Given the description of an element on the screen output the (x, y) to click on. 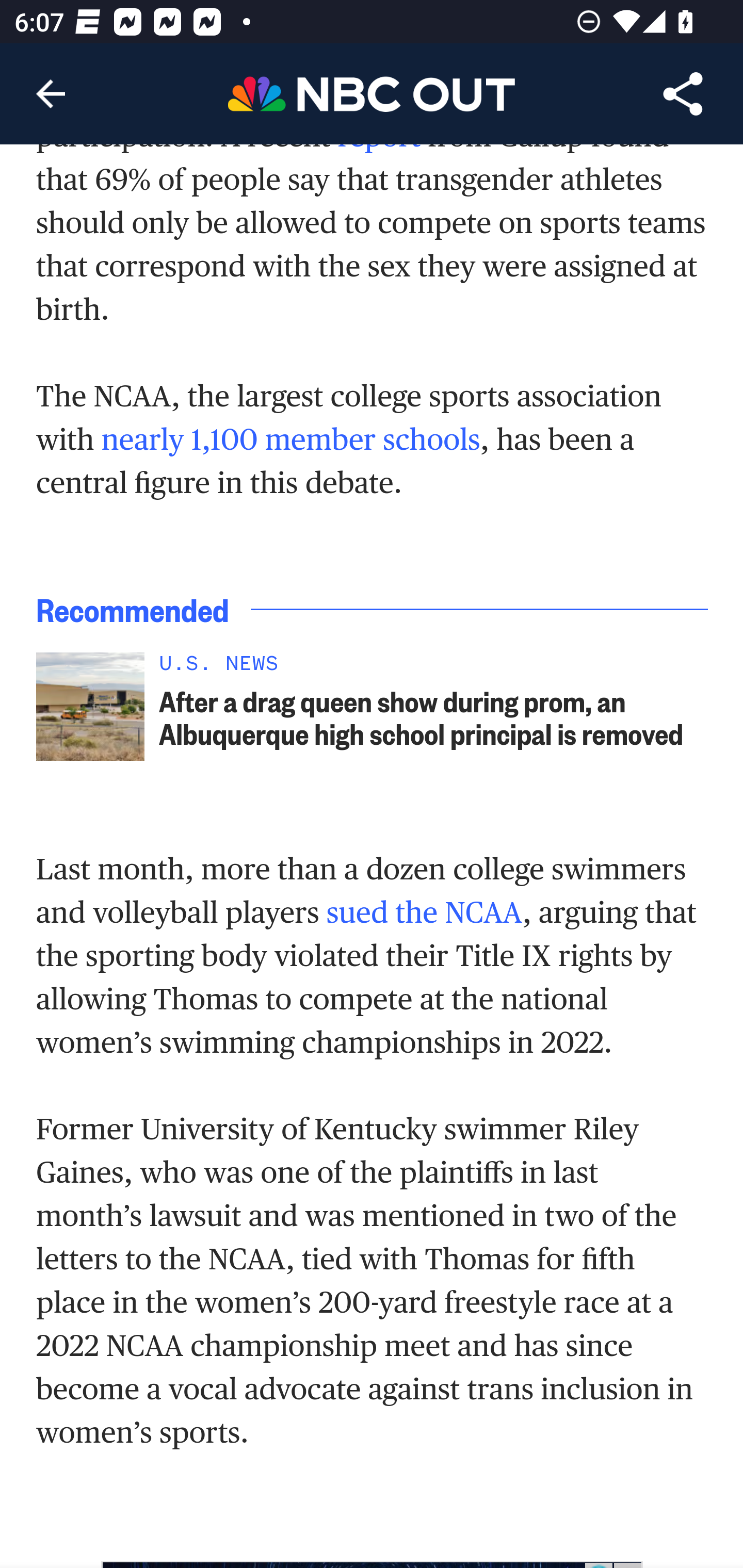
Navigate up (50, 93)
Share Article, button (683, 94)
Header, NBC Out (371, 93)
nearly 1,100 member schools (290, 439)
U.S. NEWS (434, 667)
sued the NCAA (424, 913)
